Given the description of an element on the screen output the (x, y) to click on. 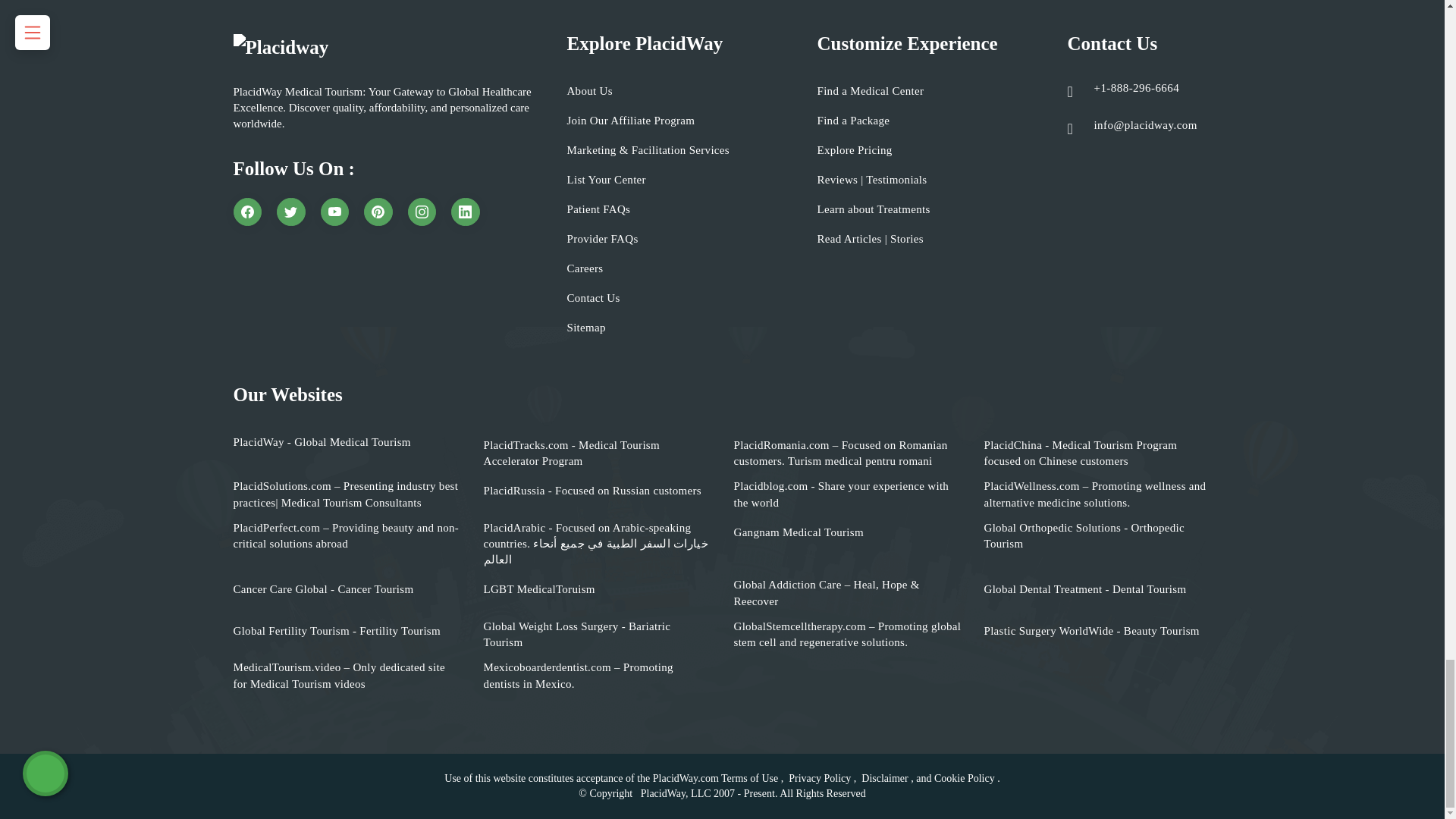
Placidway's Instagram Account (421, 212)
Gangnam Medical Tourism (798, 532)
Placidway's Linkedin Account (465, 212)
Cancer Care Global - Cancer Tourism (322, 589)
Global Orthopedic Solutions - Orthopedic Tourism (1097, 536)
PlacidTracks.com - Medical Tourism Accelerator Program (597, 453)
Placidway's Twitter Account (290, 212)
Placidway's facebook Account (247, 212)
LGBT MedicalToruism (539, 589)
Placidway's Youtube Account (334, 212)
